Given the description of an element on the screen output the (x, y) to click on. 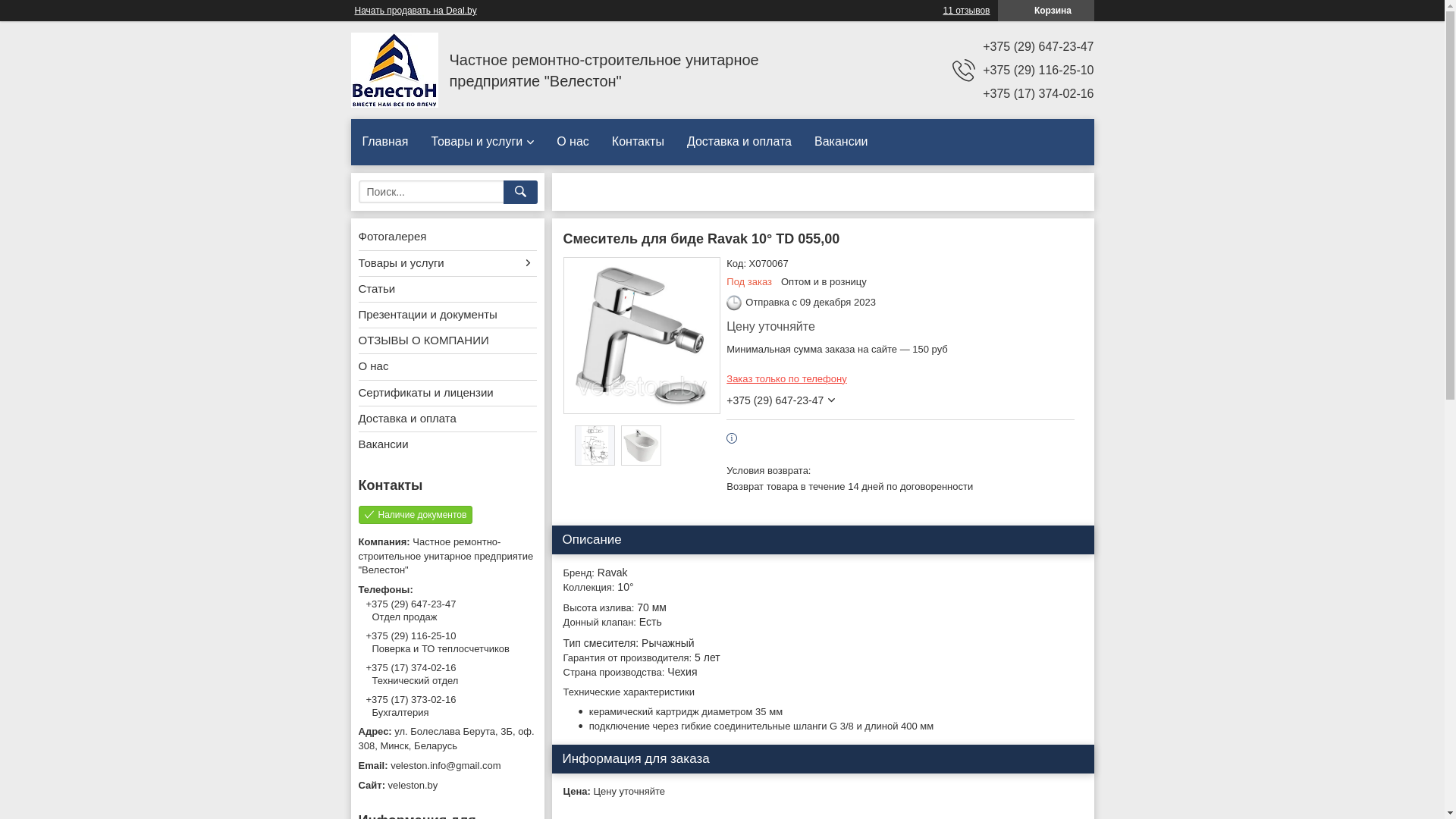
veleston.by Element type: text (446, 785)
veleston.info@gmail.com Element type: text (446, 765)
